Given the description of an element on the screen output the (x, y) to click on. 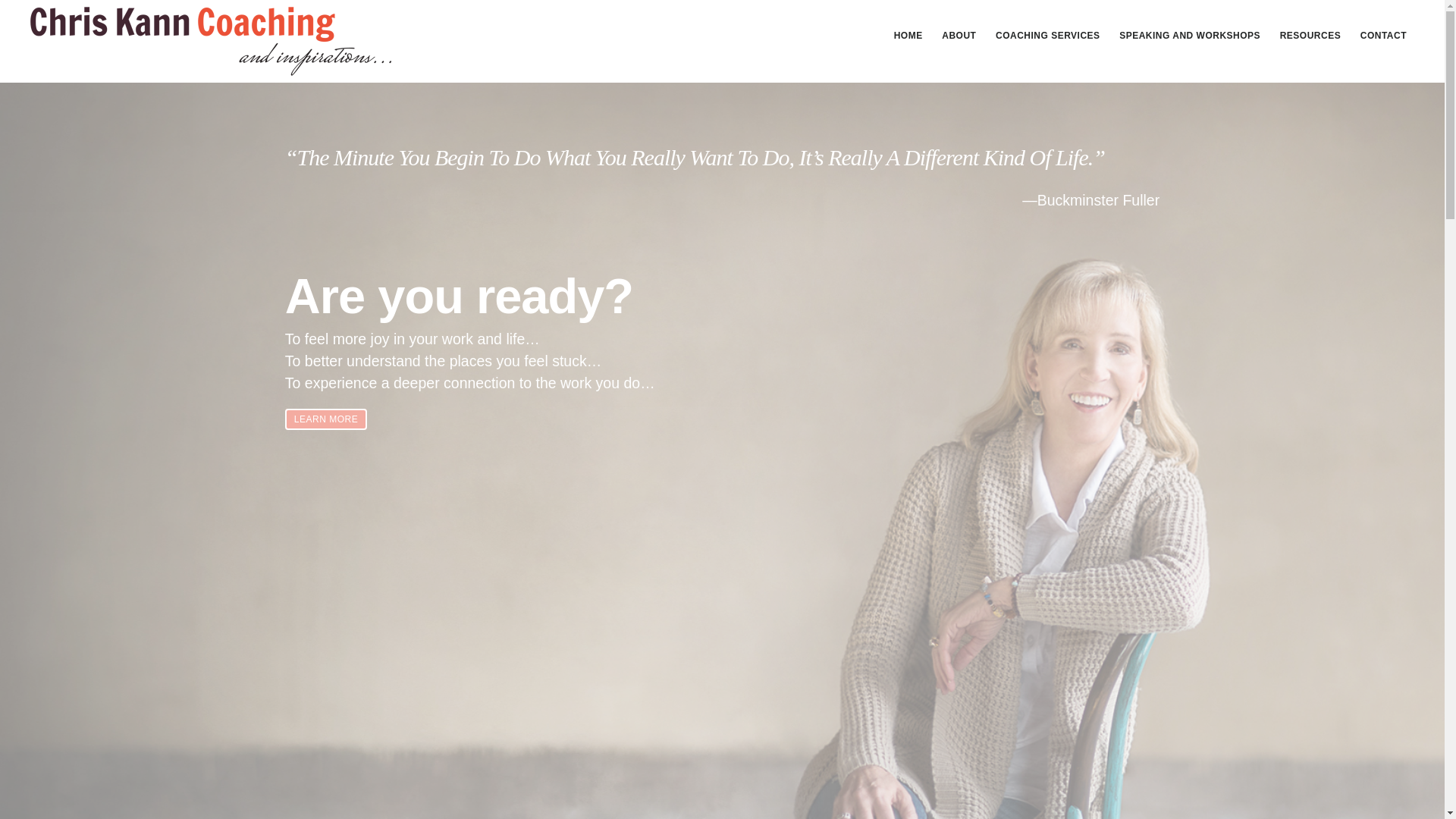
LEARN MORE (325, 418)
ABOUT (959, 35)
CHRIS KANN COACHING (210, 41)
CONTACT (1382, 35)
SPEAKING AND WORKSHOPS (1190, 35)
RESOURCES (1310, 35)
COACHING SERVICES (1048, 35)
HOME (908, 35)
